Given the description of an element on the screen output the (x, y) to click on. 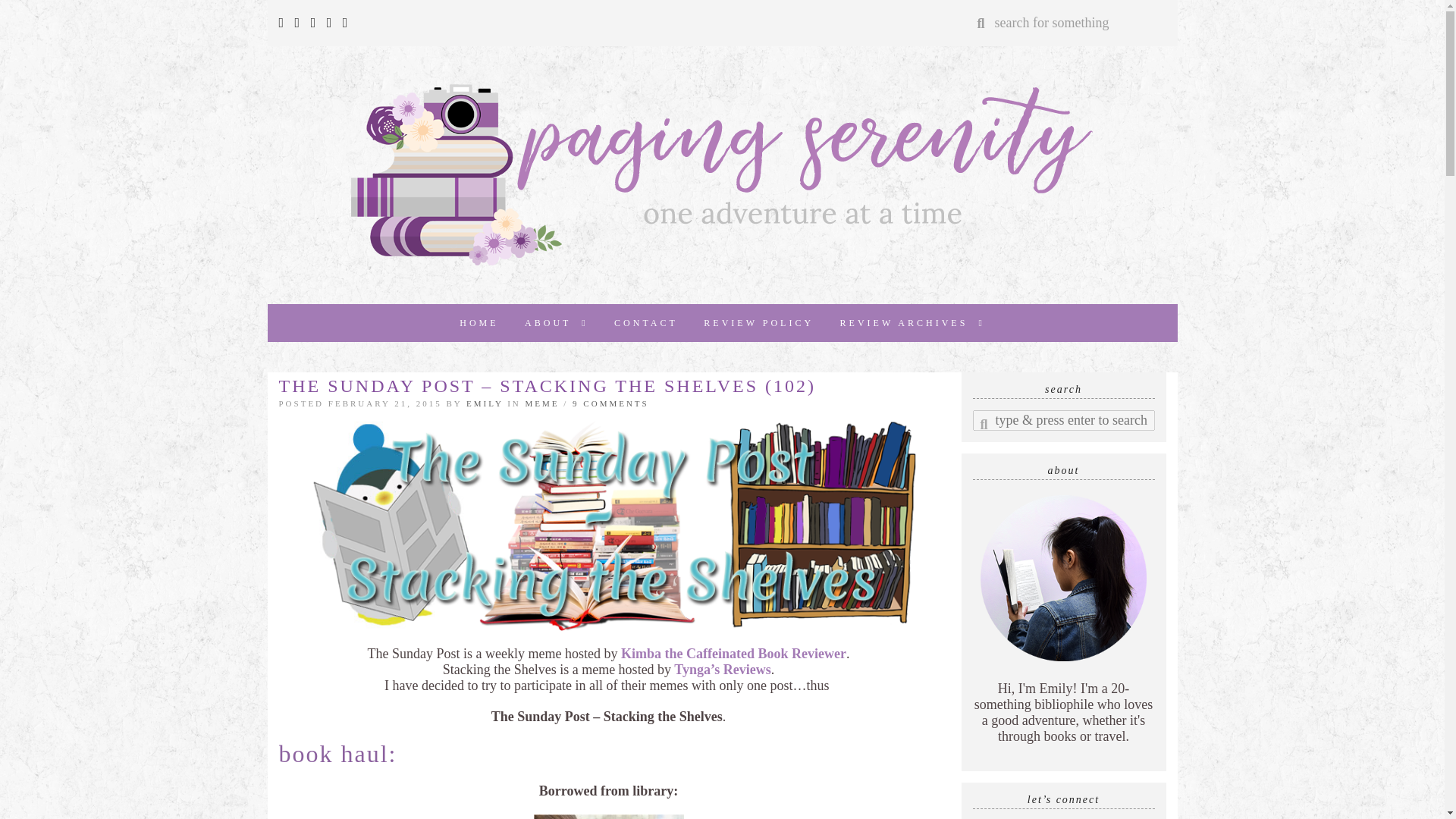
Kimba the Caffeinated Book Reviewer (733, 653)
MEME (542, 402)
Profile Picture (1063, 577)
View all posts in Meme (542, 402)
EMILY (483, 402)
9 COMMENTS (610, 402)
CONTACT (645, 322)
HOME (478, 322)
ABOUT   (556, 322)
REVIEW ARCHIVES   (911, 322)
REVIEW POLICY (759, 322)
